Given the description of an element on the screen output the (x, y) to click on. 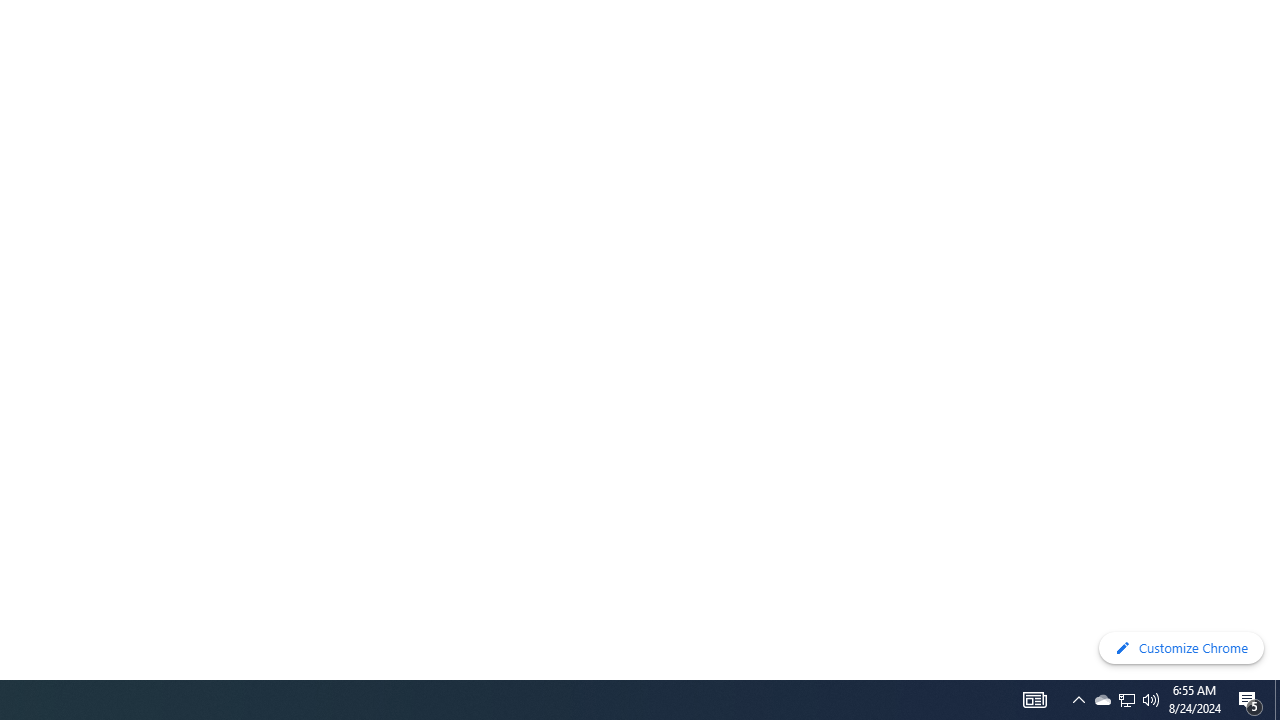
Customize Chrome (1181, 647)
